Given the description of an element on the screen output the (x, y) to click on. 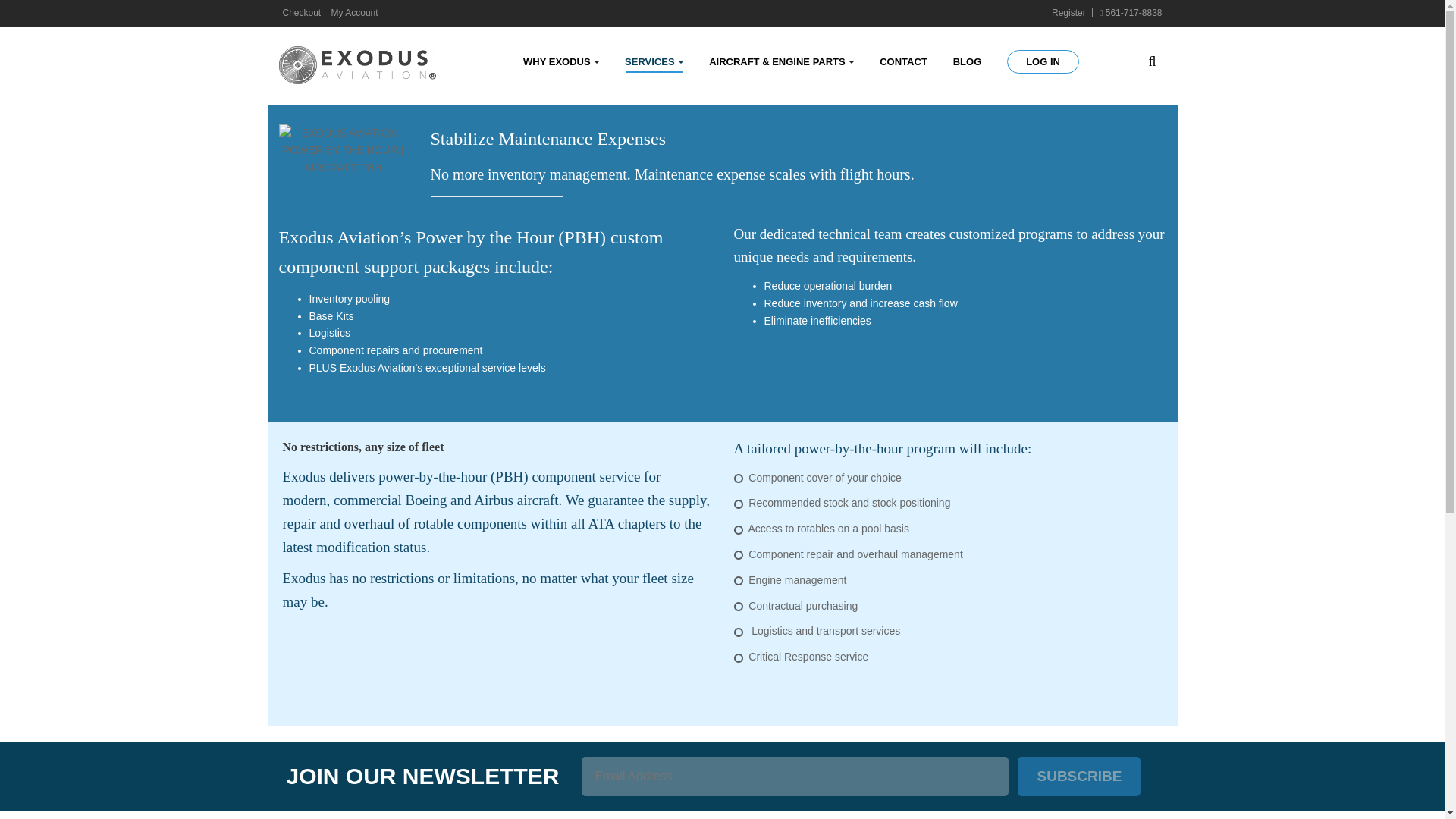
SERVICES (653, 62)
HOME (297, 20)
Register (1068, 12)
CONTACT (903, 62)
BLOG (967, 62)
Subscribe (1078, 776)
LOG IN (1042, 61)
WHY EXODUS (561, 62)
Checkout (301, 12)
SERVICES (345, 20)
